Given the description of an element on the screen output the (x, y) to click on. 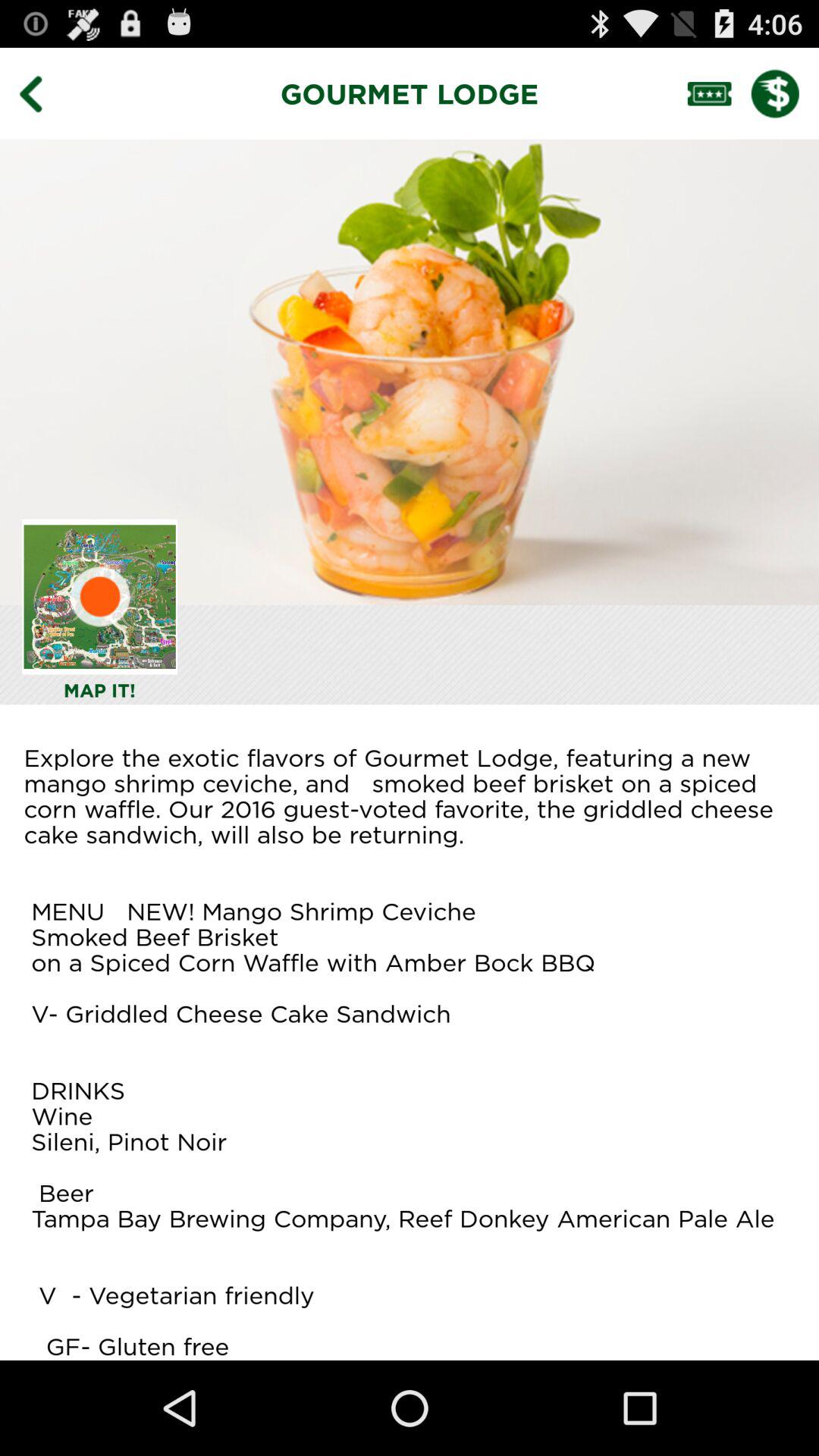
press the item next to the gourmet lodge item (41, 93)
